Given the description of an element on the screen output the (x, y) to click on. 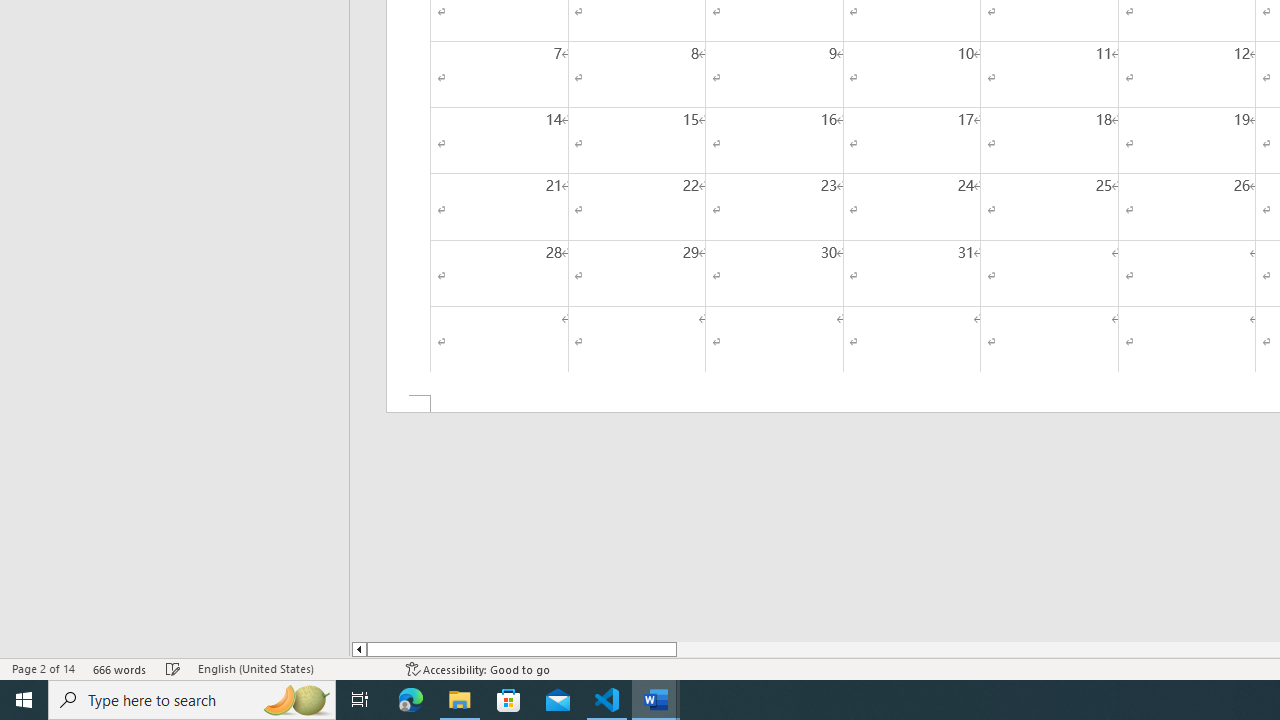
Page Number Page 2 of 14 (43, 668)
Language English (United States) (292, 668)
Accessibility Checker Accessibility: Good to go (478, 668)
Word Count 666 words (119, 668)
Spelling and Grammar Check Checking (173, 668)
Column left (358, 649)
